Given the description of an element on the screen output the (x, y) to click on. 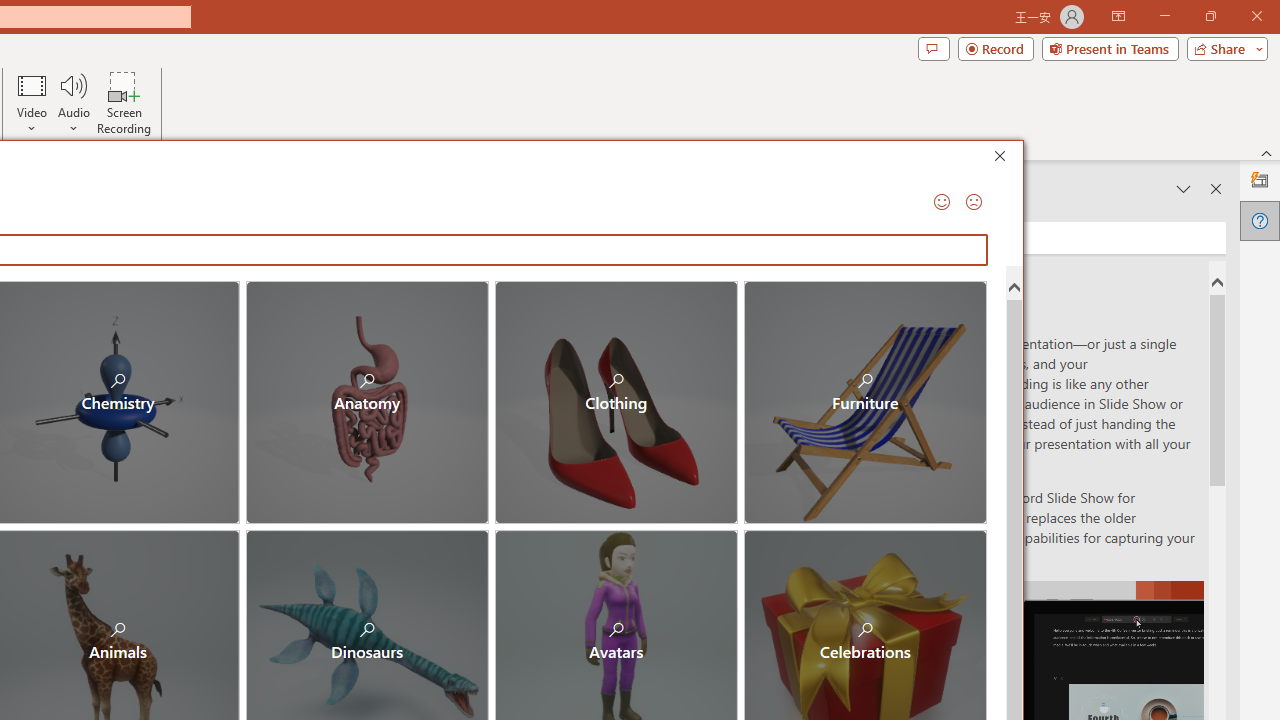
Screen Recording... (123, 102)
Send a Frown (972, 201)
Send a Smile (940, 201)
Anatomy (367, 402)
Clothing (616, 402)
Video (31, 102)
